Given the description of an element on the screen output the (x, y) to click on. 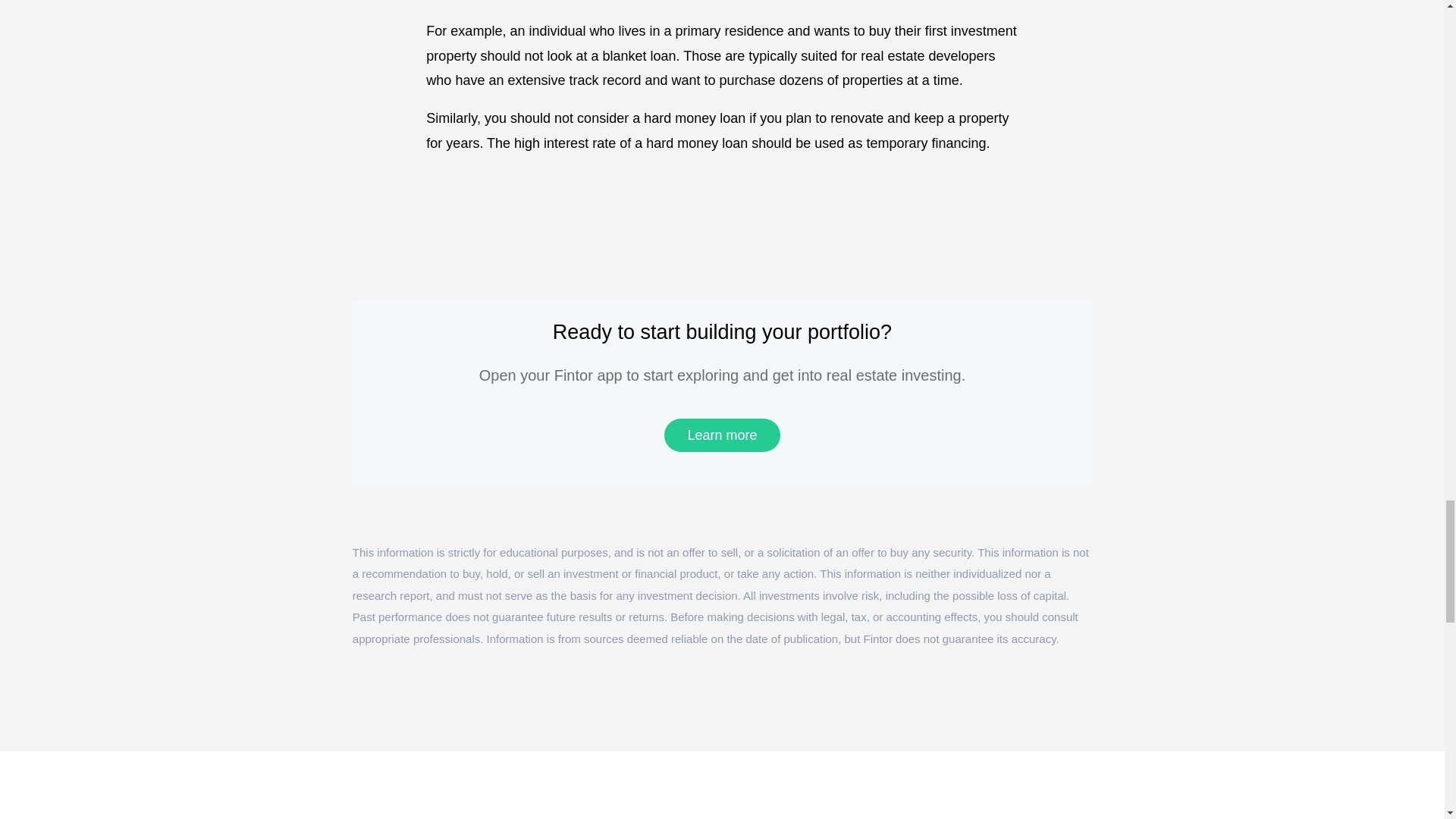
Learn more (720, 435)
